Given the description of an element on the screen output the (x, y) to click on. 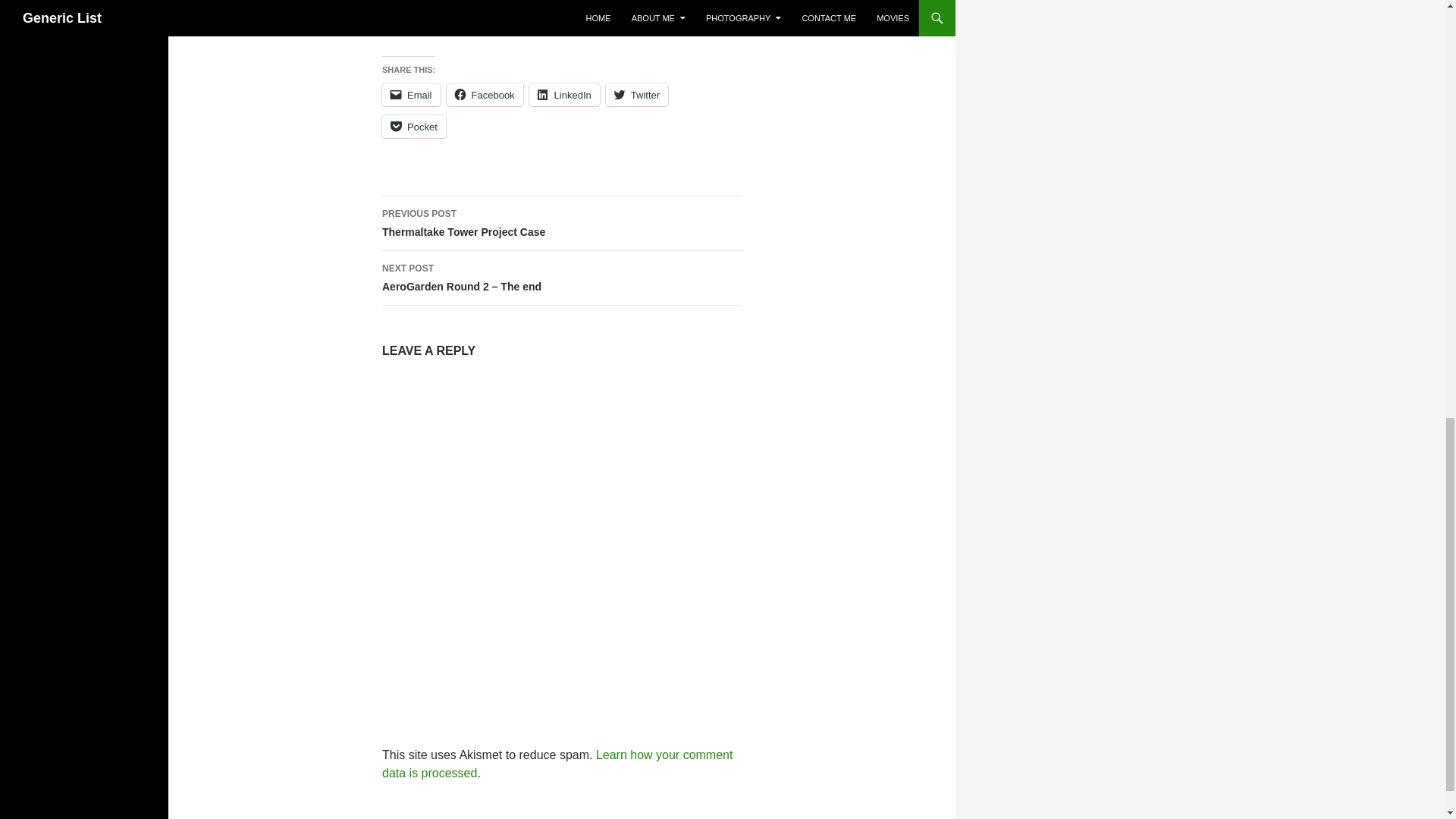
Learn how your comment data is processed (556, 763)
Facebook (561, 223)
Twitter (484, 94)
Click to share on Twitter (636, 94)
Email (636, 94)
Pocket (411, 94)
LinkedIn (413, 126)
Click to share on Facebook (564, 94)
Click to email a link to a friend (484, 94)
